Given the description of an element on the screen output the (x, y) to click on. 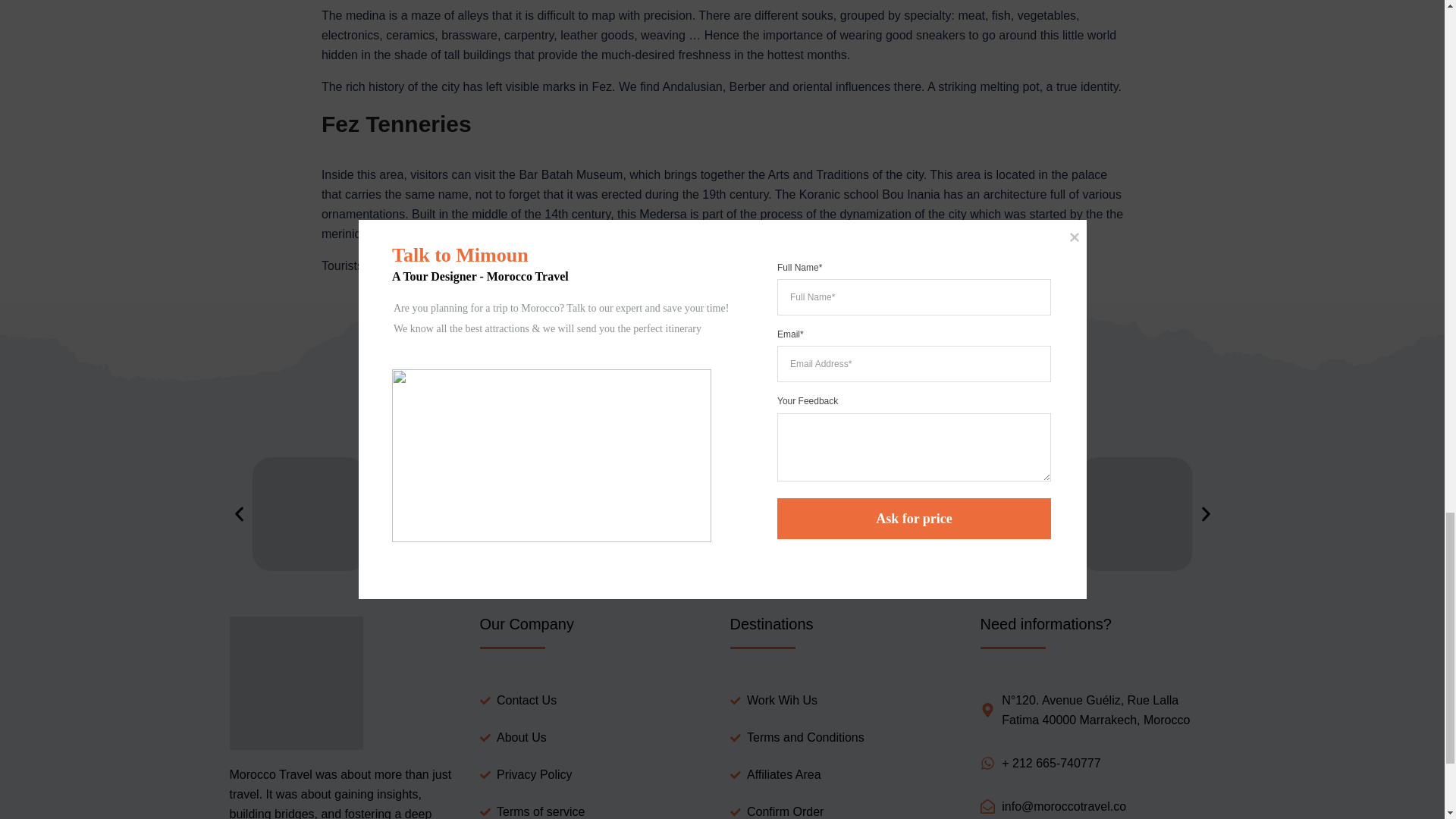
Contact Us (596, 700)
Work Wih Us (846, 700)
Confirm Order (846, 810)
Terms and Conditions (846, 737)
Privacy Policy (596, 774)
About Us (596, 737)
Affiliates Area (846, 774)
Terms of service (596, 810)
